Given the description of an element on the screen output the (x, y) to click on. 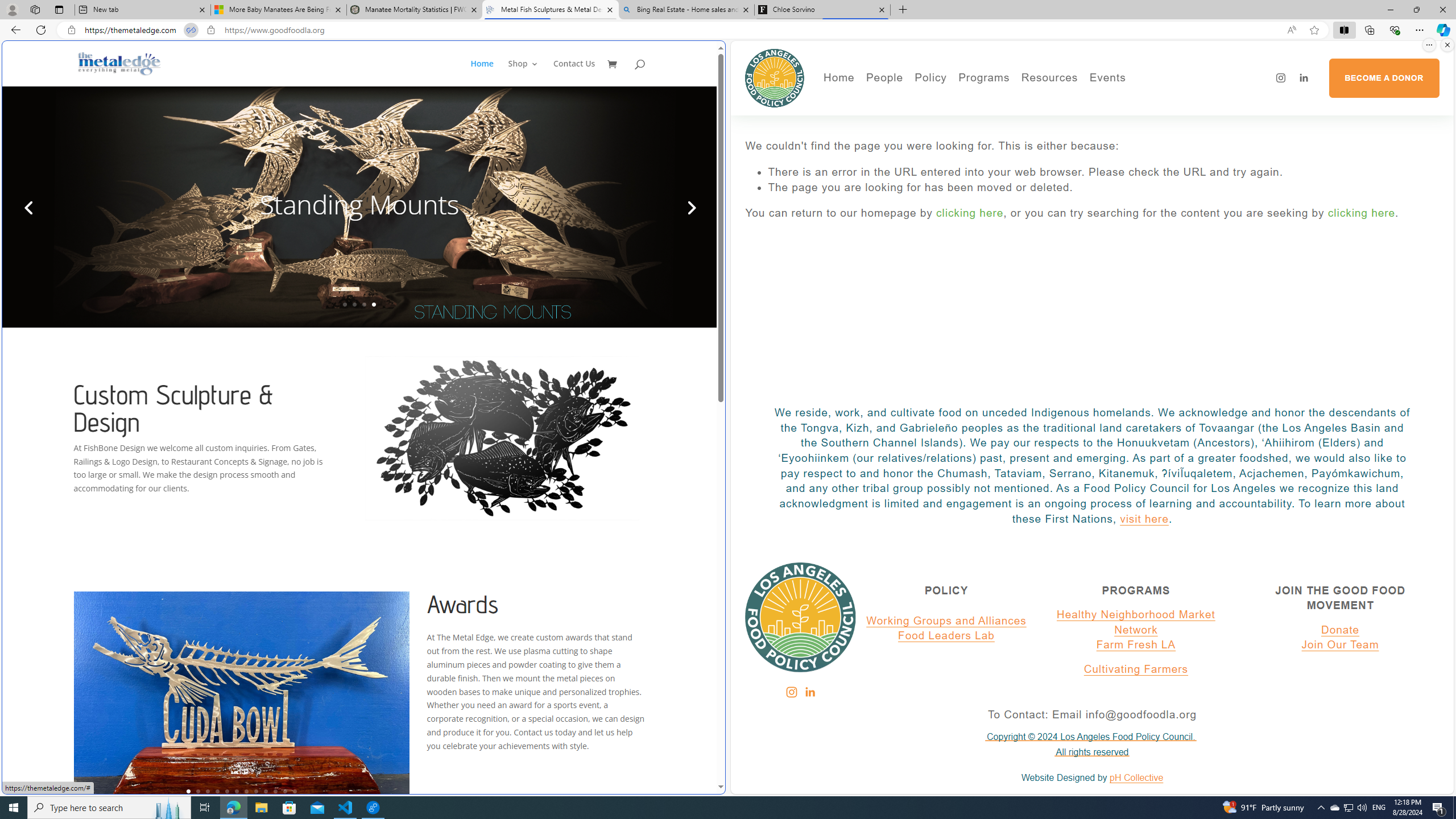
LinkedIn (809, 692)
Donate (1339, 630)
Programs (984, 77)
Good Food Zones (1093, 99)
Home (838, 77)
Policy (930, 77)
Shop3 (529, 72)
Metal Fish Sculptures & Metal Designs (119, 63)
12 (294, 790)
